Given the description of an element on the screen output the (x, y) to click on. 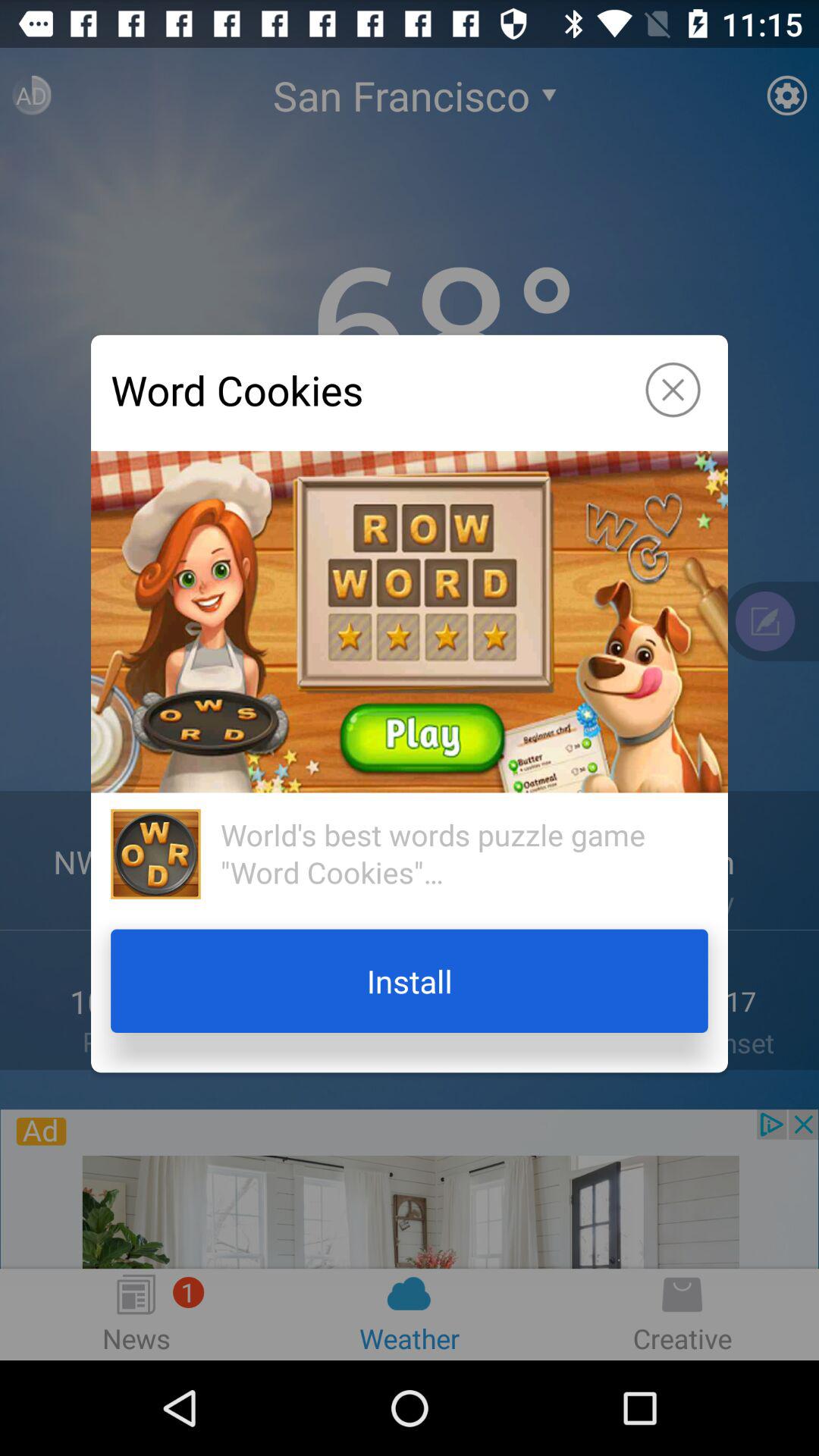
click the app at the bottom (409, 980)
